Given the description of an element on the screen output the (x, y) to click on. 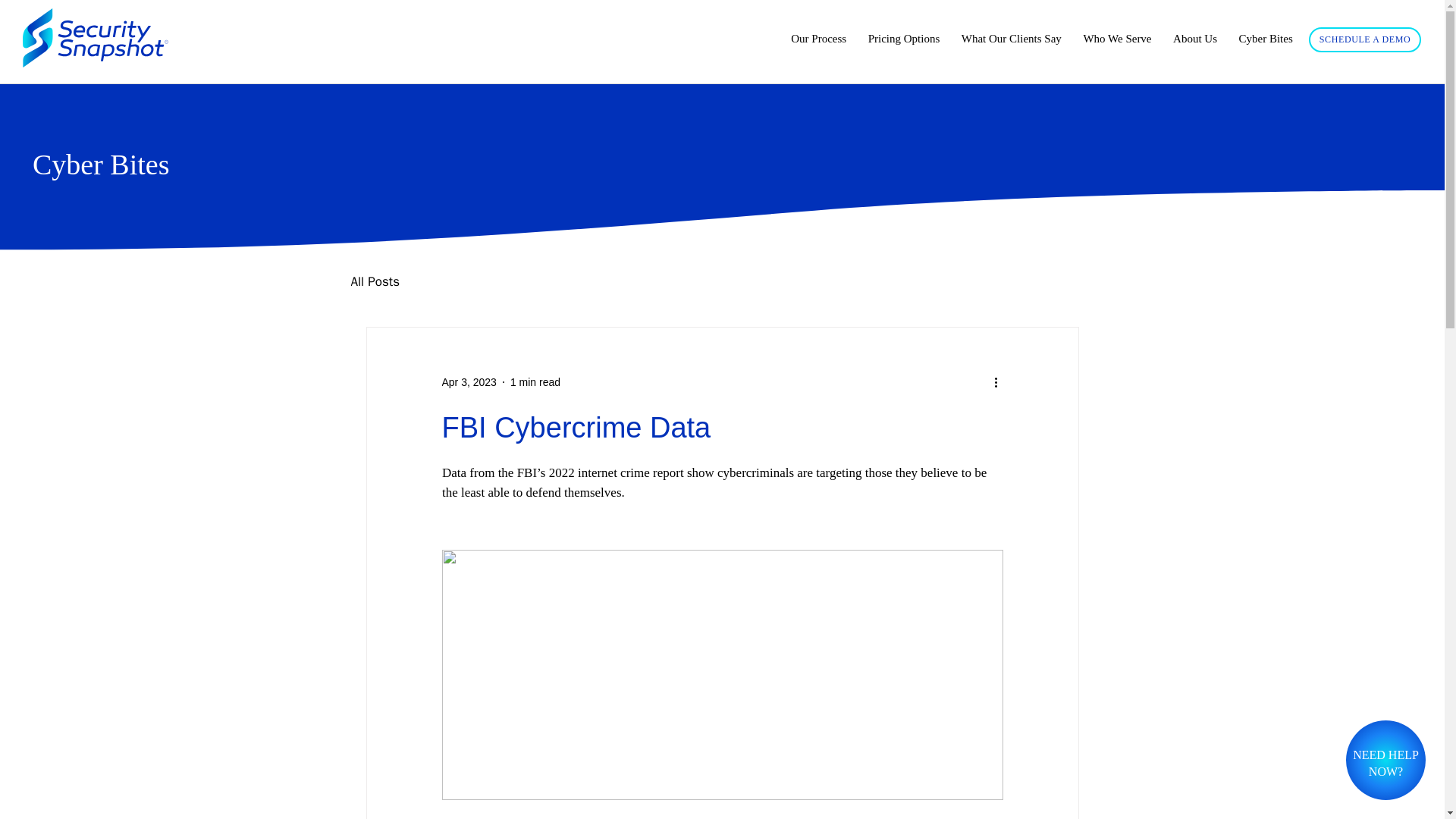
What Our Clients Say (1011, 39)
Cyber Bites (1265, 39)
About Us (1194, 39)
Pricing Options (903, 39)
Who We Serve (1116, 39)
1 min read (1385, 763)
Apr 3, 2023 (535, 381)
SCHEDULE A DEMO (468, 381)
All Posts (1364, 39)
Our Process (374, 281)
